Given the description of an element on the screen output the (x, y) to click on. 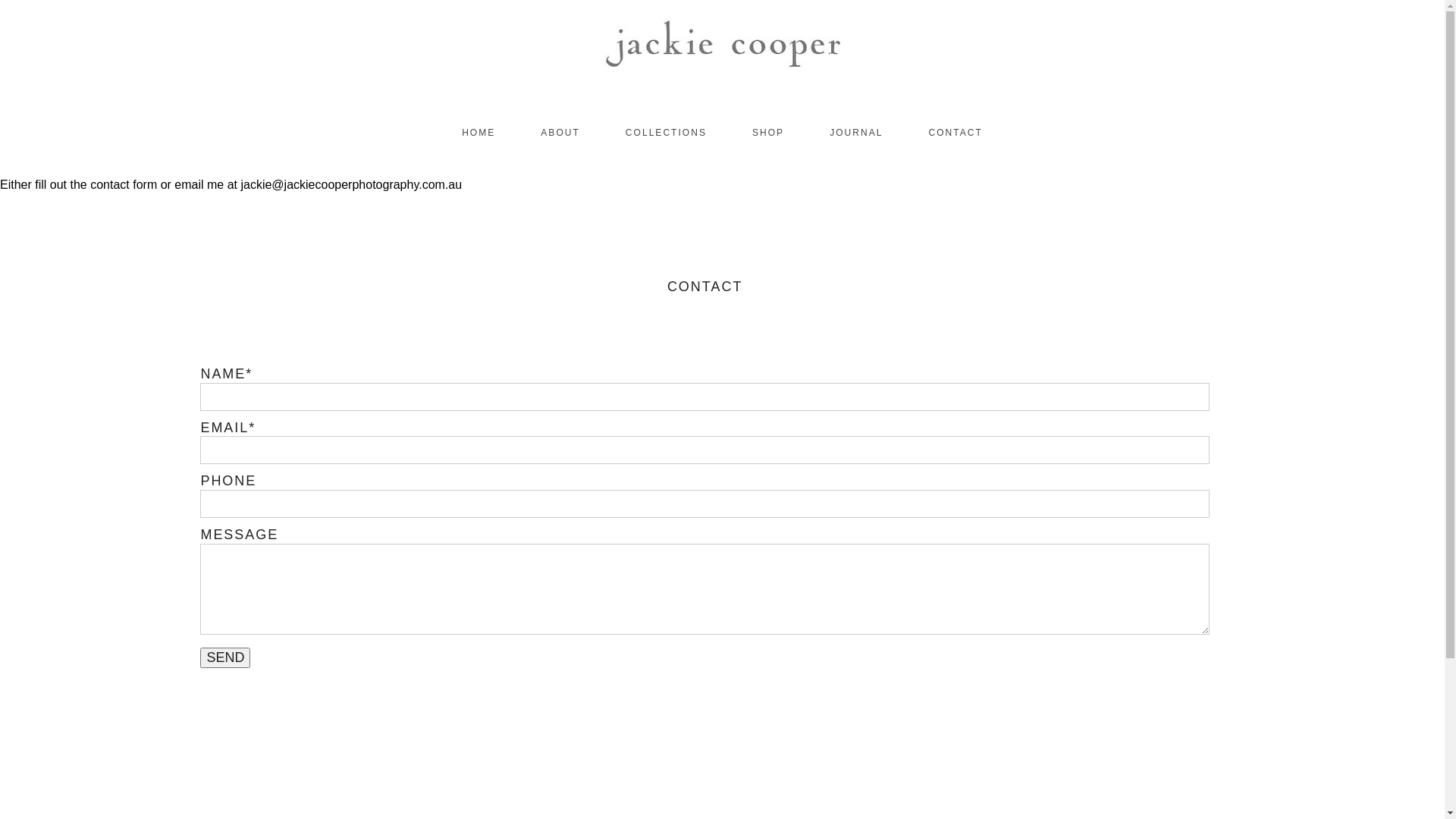
SHOP Element type: text (768, 132)
SEND Element type: text (225, 657)
CONTACT Element type: text (955, 132)
ABOUT Element type: text (560, 132)
HOME Element type: text (478, 132)
JOURNAL Element type: text (855, 132)
